Given the description of an element on the screen output the (x, y) to click on. 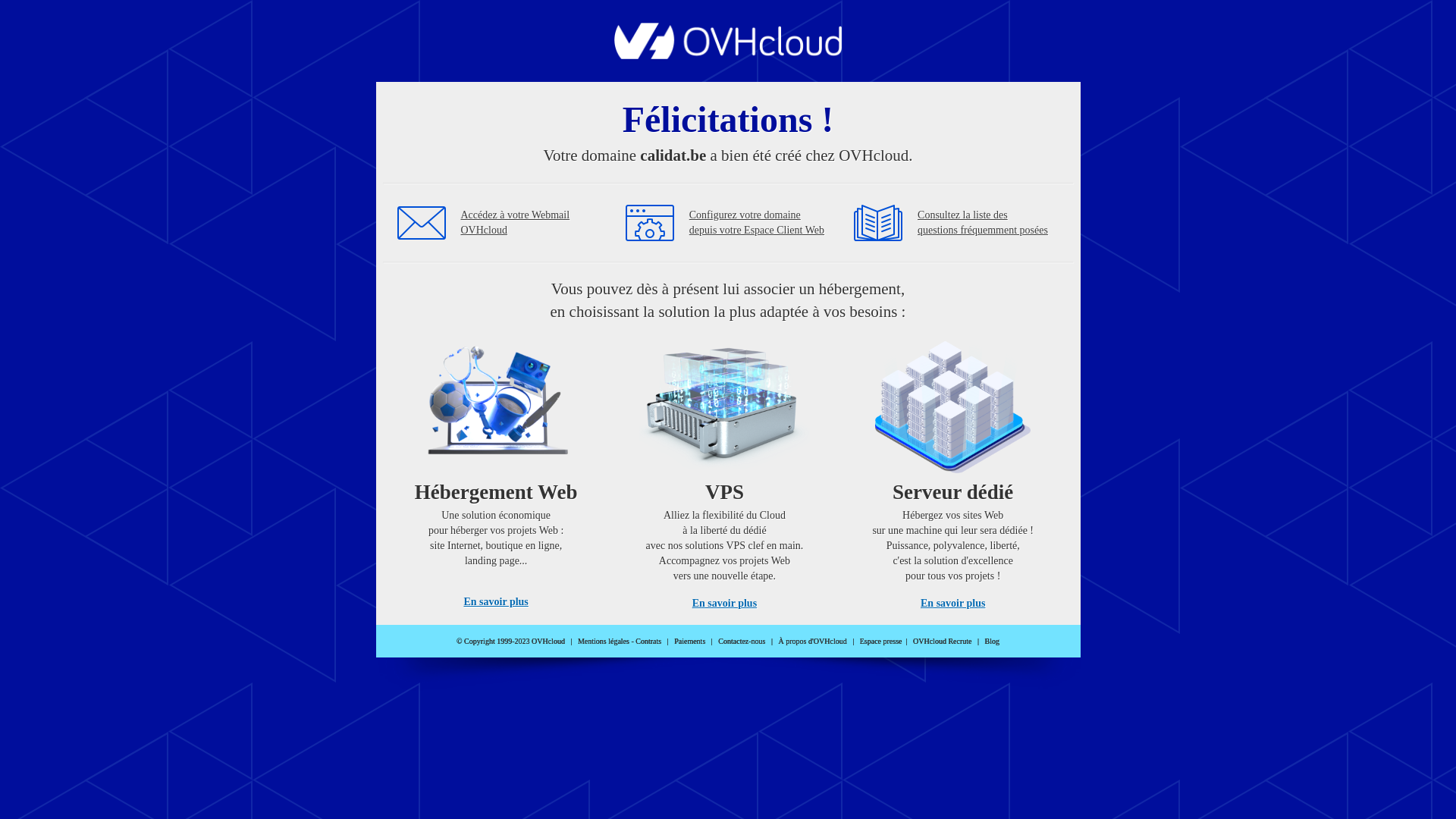
En savoir plus Element type: text (952, 602)
Paiements Element type: text (689, 641)
En savoir plus Element type: text (495, 601)
OVHcloud Recrute Element type: text (942, 641)
VPS Element type: hover (724, 469)
Blog Element type: text (992, 641)
OVHcloud Element type: hover (727, 54)
Contactez-nous Element type: text (741, 641)
Espace presse Element type: text (880, 641)
Configurez votre domaine
depuis votre Espace Client Web Element type: text (756, 222)
En savoir plus Element type: text (724, 602)
